Given the description of an element on the screen output the (x, y) to click on. 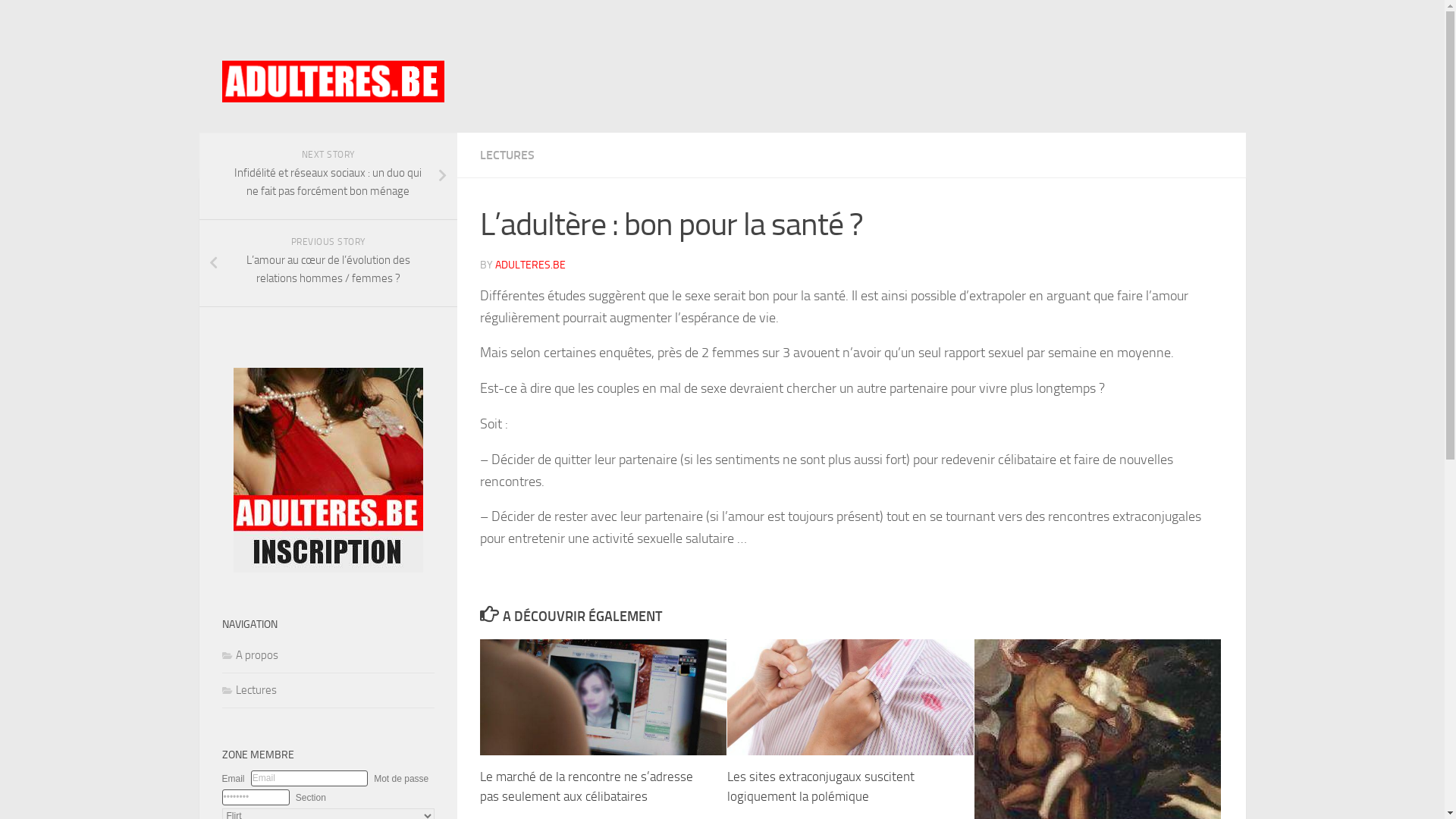
LECTURES Element type: text (506, 154)
Skip to content Element type: text (60, 21)
ADULTERES.BE Element type: text (529, 264)
A propos Element type: text (249, 655)
Lectures Element type: text (248, 689)
Adulteres .BE | Home page Element type: hover (332, 81)
